Given the description of an element on the screen output the (x, y) to click on. 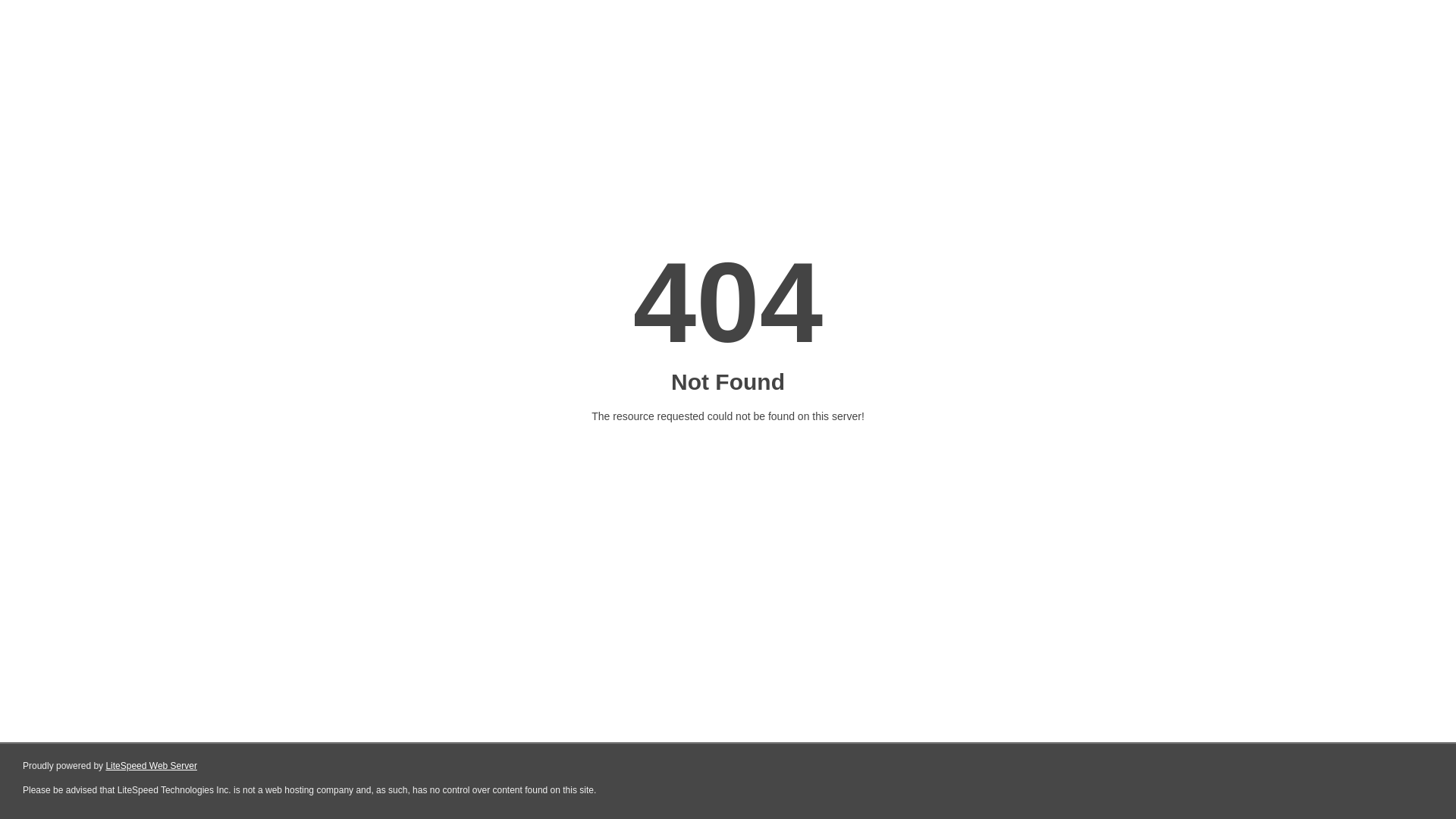
LiteSpeed Web Server Element type: text (151, 765)
